Given the description of an element on the screen output the (x, y) to click on. 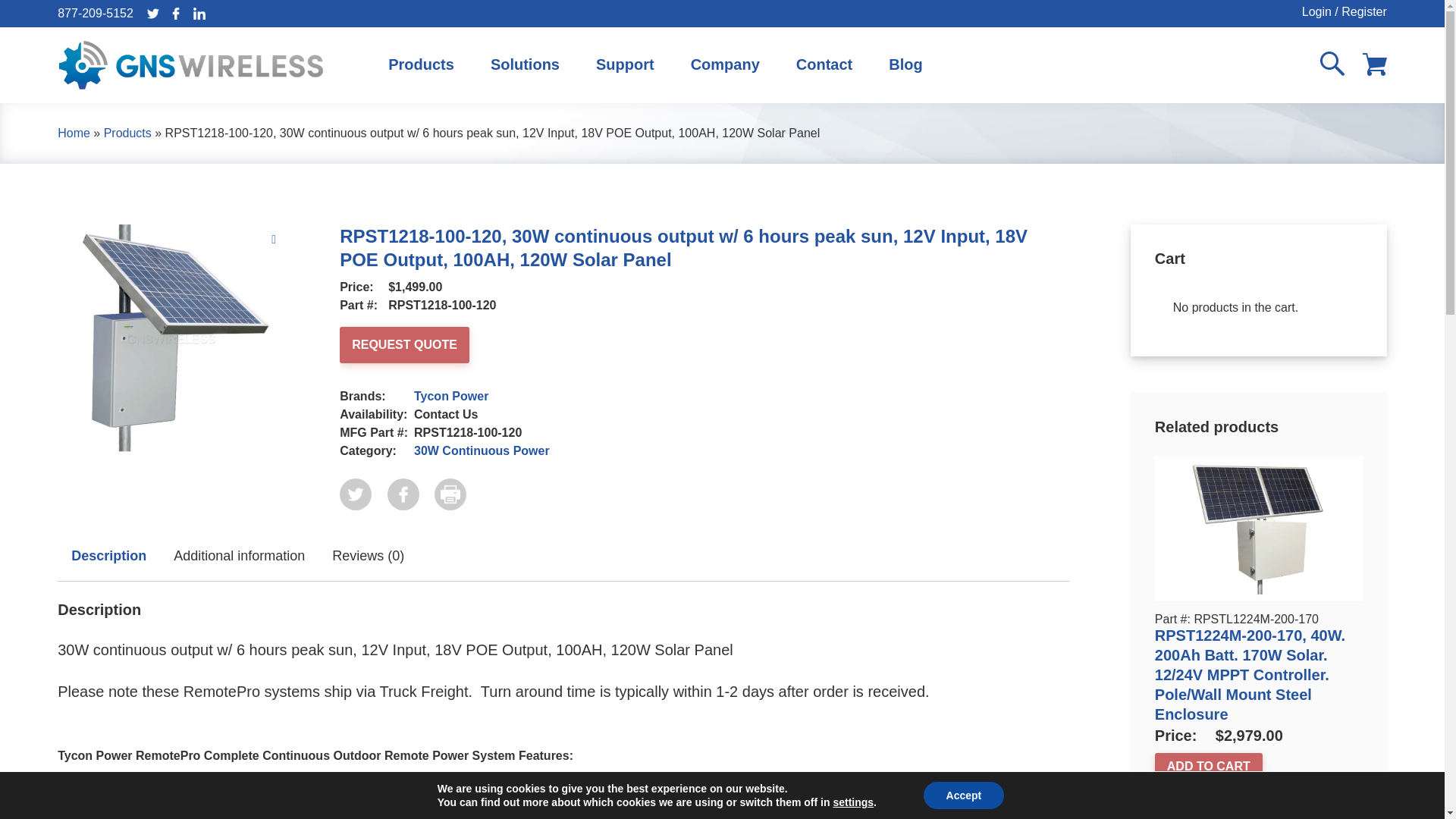
Products (420, 64)
Twitter (152, 13)
GNS Wireless (191, 64)
images (171, 338)
LinkedIn (199, 13)
Facebook (175, 13)
877-209-5152 (95, 12)
